Given the description of an element on the screen output the (x, y) to click on. 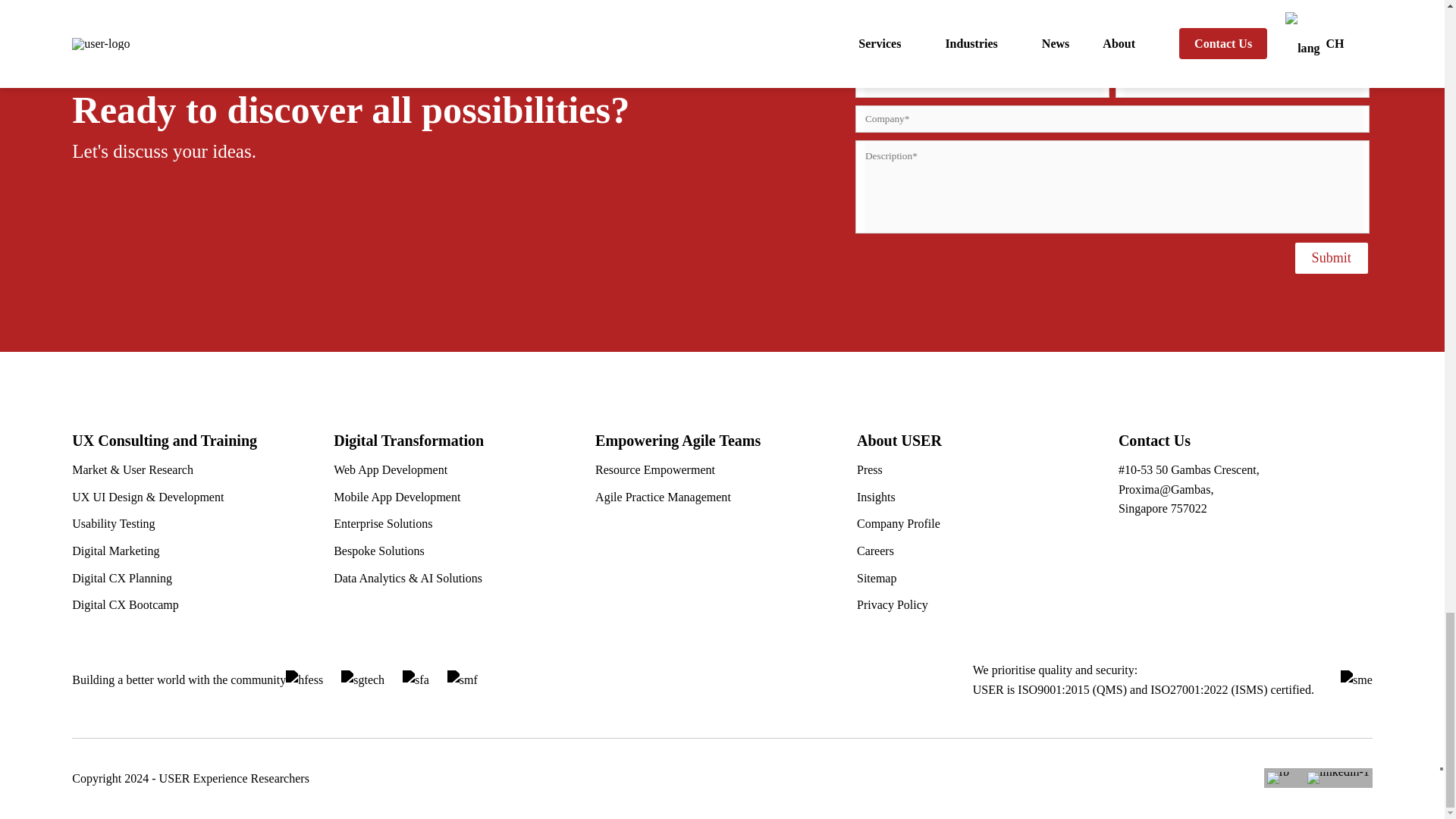
Submit (1332, 257)
Submit (1332, 257)
